Given the description of an element on the screen output the (x, y) to click on. 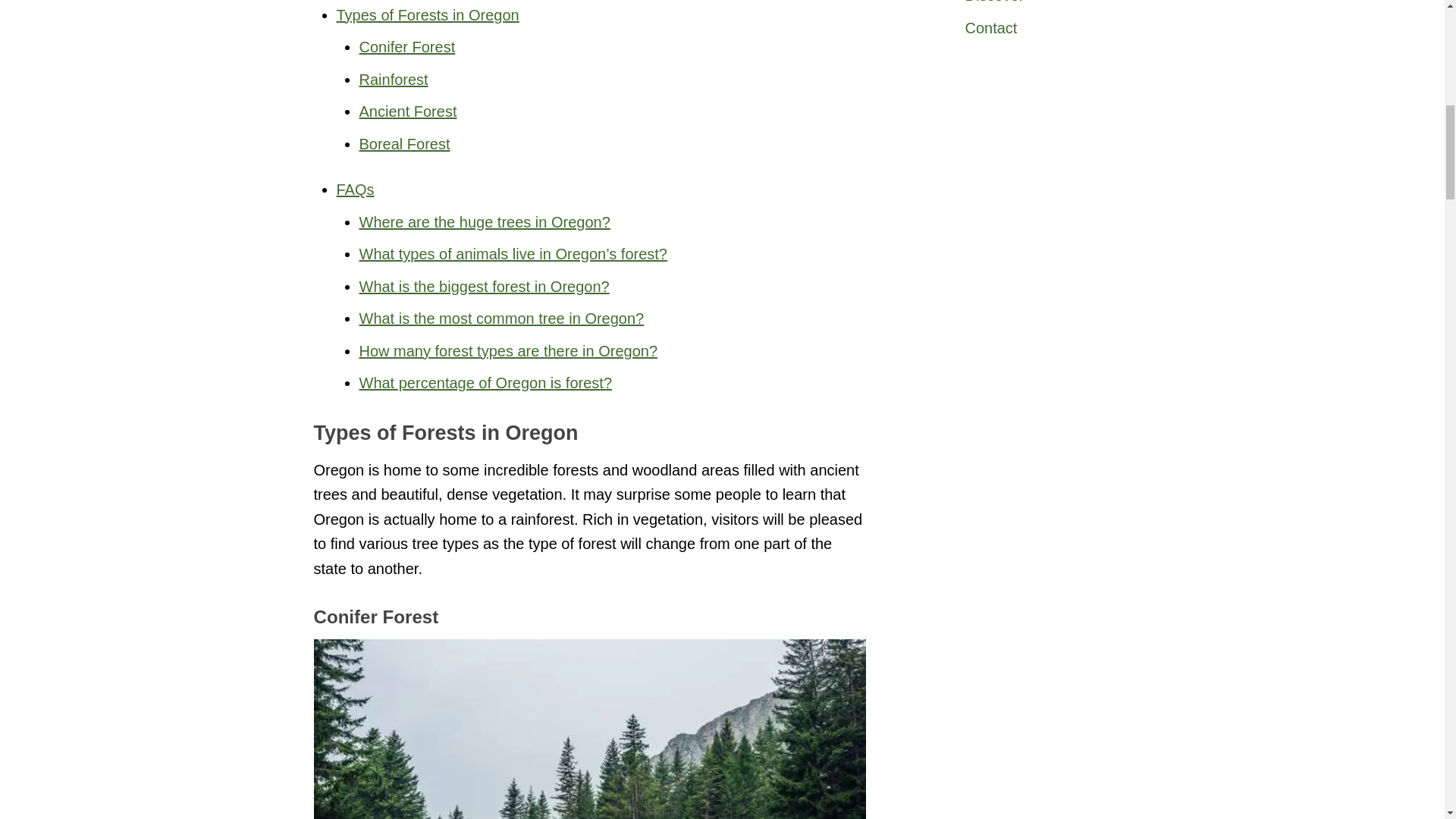
Discover (1062, 6)
What is the most common tree in Oregon? (502, 318)
How many forest types are there in Oregon? (508, 351)
Conifer Forest (407, 46)
Contact (1062, 28)
Boreal Forest (404, 143)
What percentage of Oregon is forest? (485, 382)
Where are the huge trees in Oregon? (484, 221)
Types of Forests in Oregon (427, 14)
Ancient Forest (408, 111)
Rainforest (393, 79)
FAQs (355, 189)
What is the biggest forest in Oregon? (484, 286)
